Given the description of an element on the screen output the (x, y) to click on. 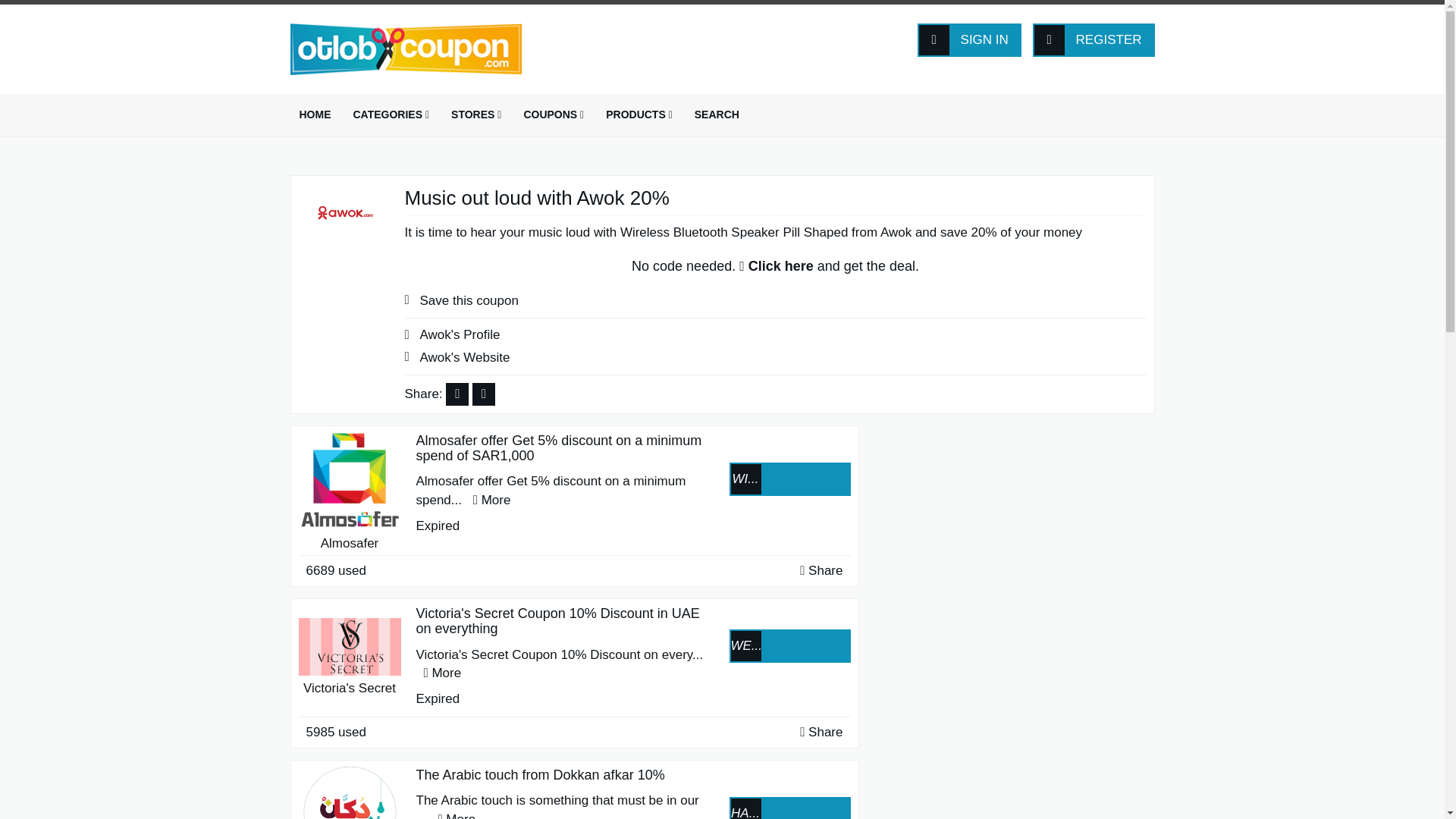
HOME (314, 114)
REGISTER (1093, 39)
SIGN IN (969, 39)
